Given the description of an element on the screen output the (x, y) to click on. 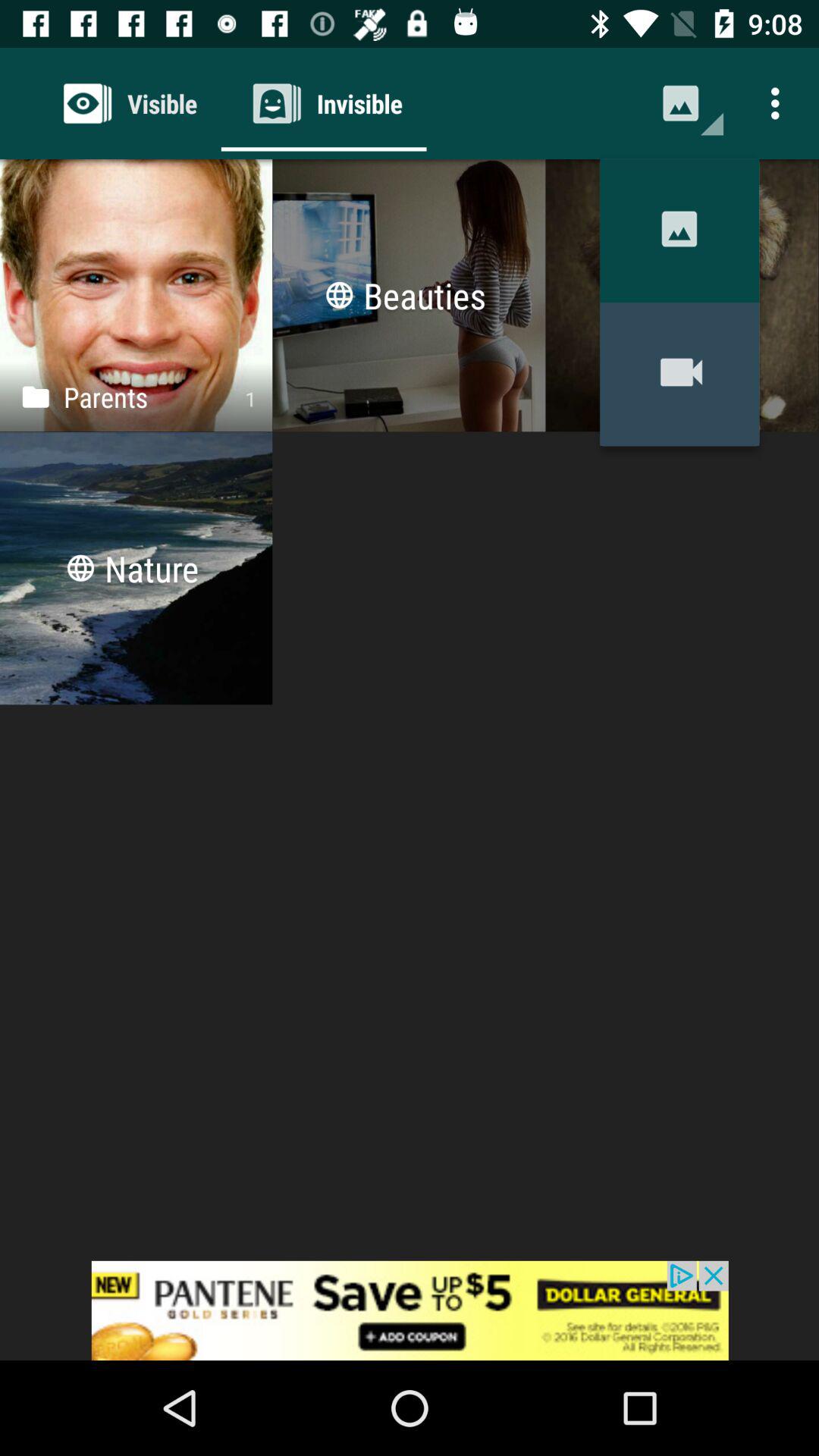
advertisement (409, 1310)
